Given the description of an element on the screen output the (x, y) to click on. 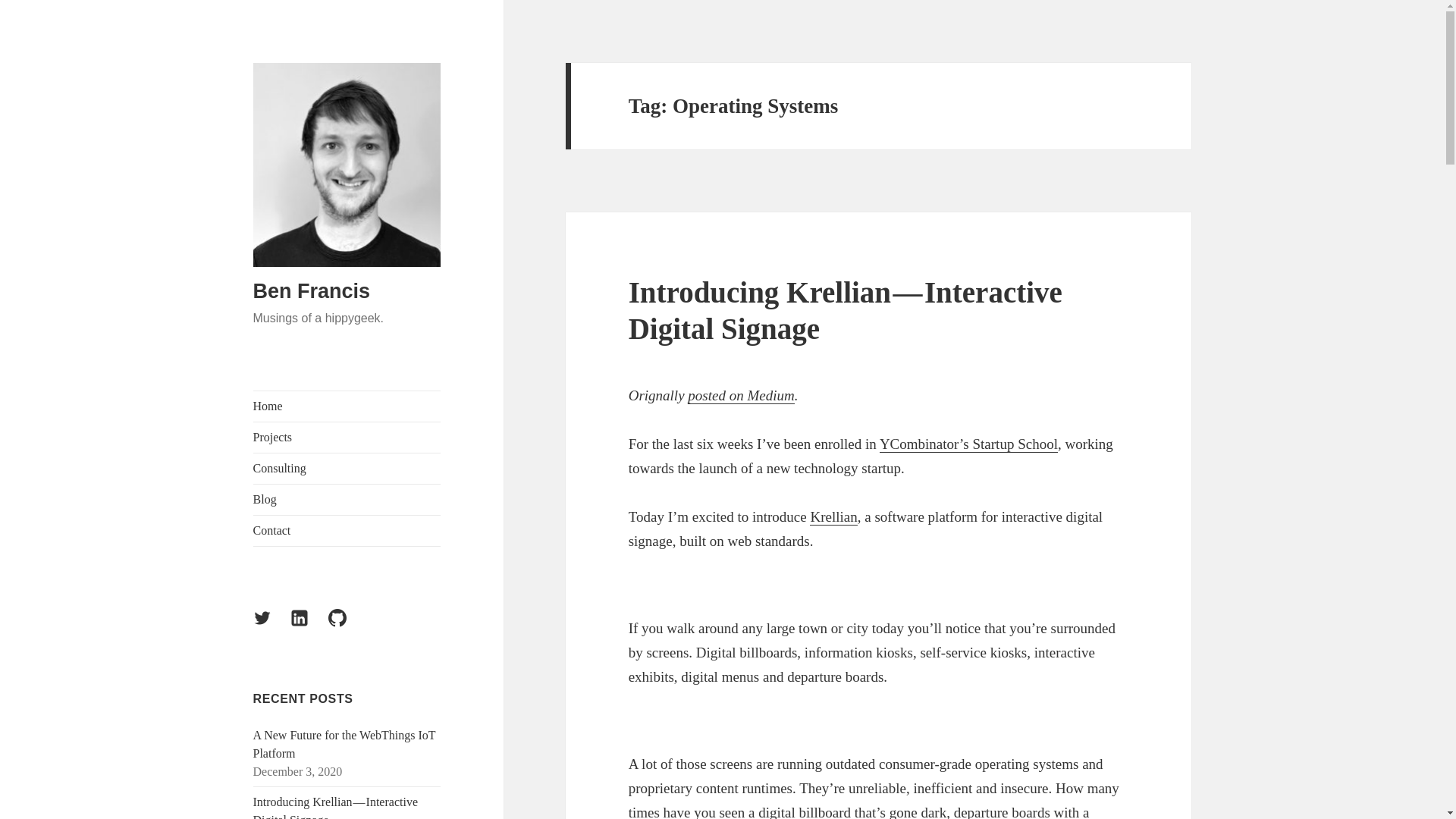
Home (347, 406)
Consulting (347, 468)
Ben Francis (312, 291)
Projects (347, 437)
Contact (347, 530)
LinkedIn (307, 627)
A New Future for the WebThings IoT Platform (344, 744)
Twitter (271, 627)
GitHub (347, 627)
Blog (347, 499)
